Given the description of an element on the screen output the (x, y) to click on. 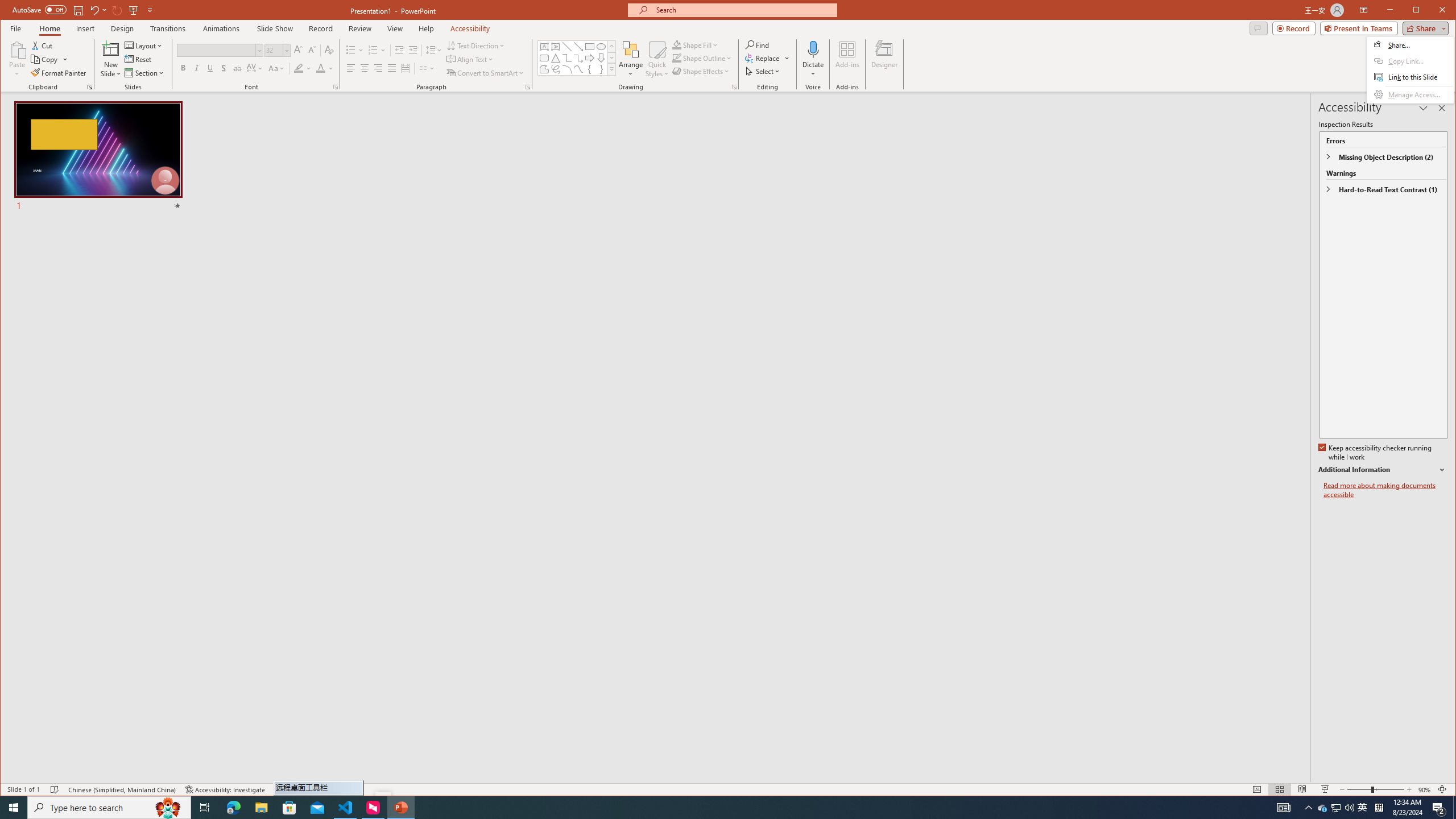
Maximize (1432, 11)
Increase Font Size (297, 49)
Text Direction (476, 45)
Section (144, 72)
Strikethrough (237, 68)
PowerPoint - 1 running window (400, 807)
Zoom 90% (1424, 789)
Q2790: 100% (1349, 807)
